Given the description of an element on the screen output the (x, y) to click on. 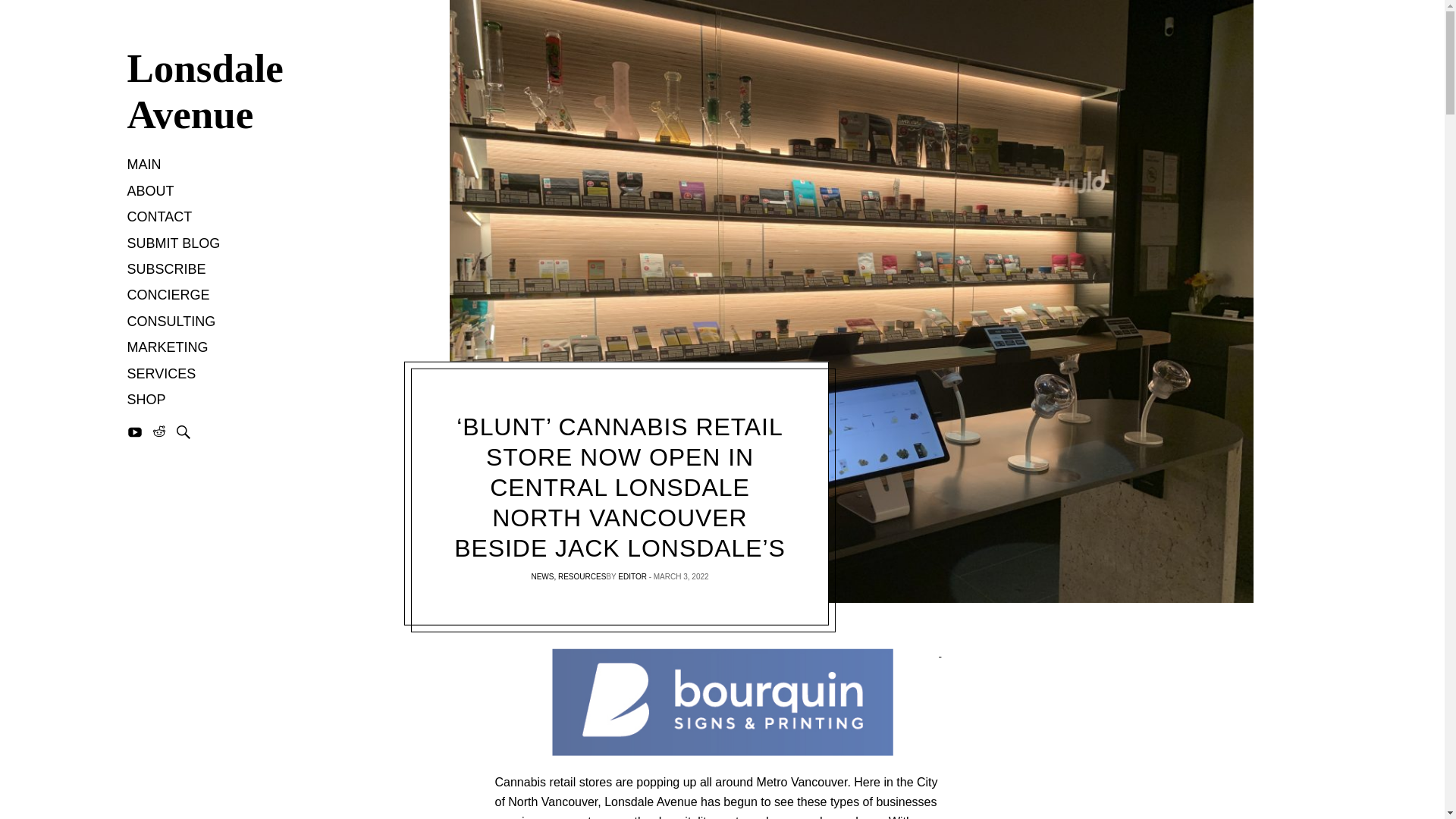
MARCH 3, 2022 (681, 576)
SHOP (146, 400)
ABOUT (151, 191)
EDITOR (631, 576)
SUBMIT BLOG (174, 243)
SEARCH (183, 432)
MARKETING (168, 348)
NEWS (542, 576)
Lonsdale Avenue (218, 91)
SUBSCRIBE (167, 269)
RESOURCES (581, 576)
CONTACT (160, 217)
SERVICES (162, 374)
MAIN (144, 166)
CONSULTING (171, 321)
